Given the description of an element on the screen output the (x, y) to click on. 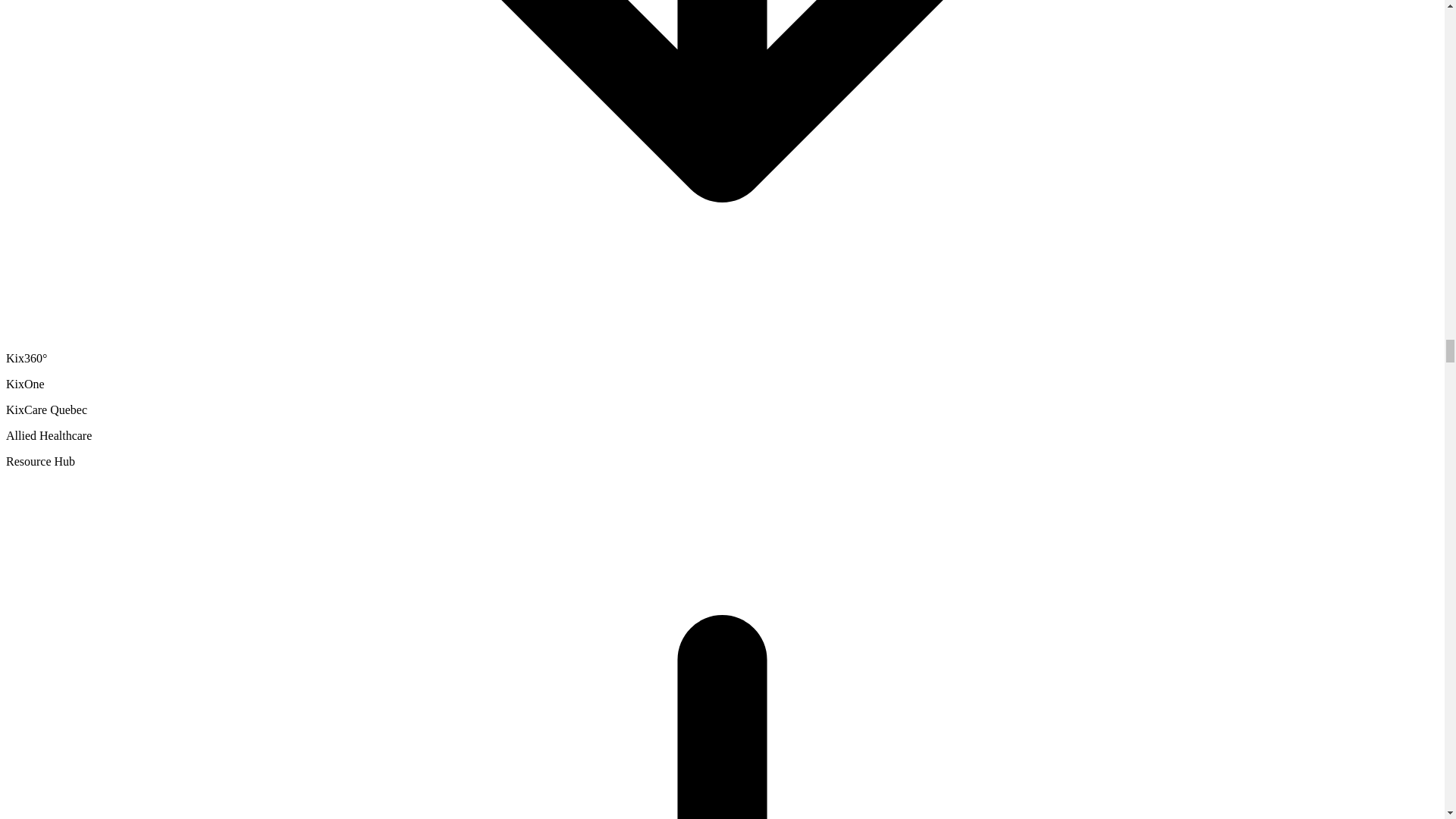
KixCare Quebec (46, 409)
Allied Healthcare (48, 435)
KixOne (25, 383)
